Given the description of an element on the screen output the (x, y) to click on. 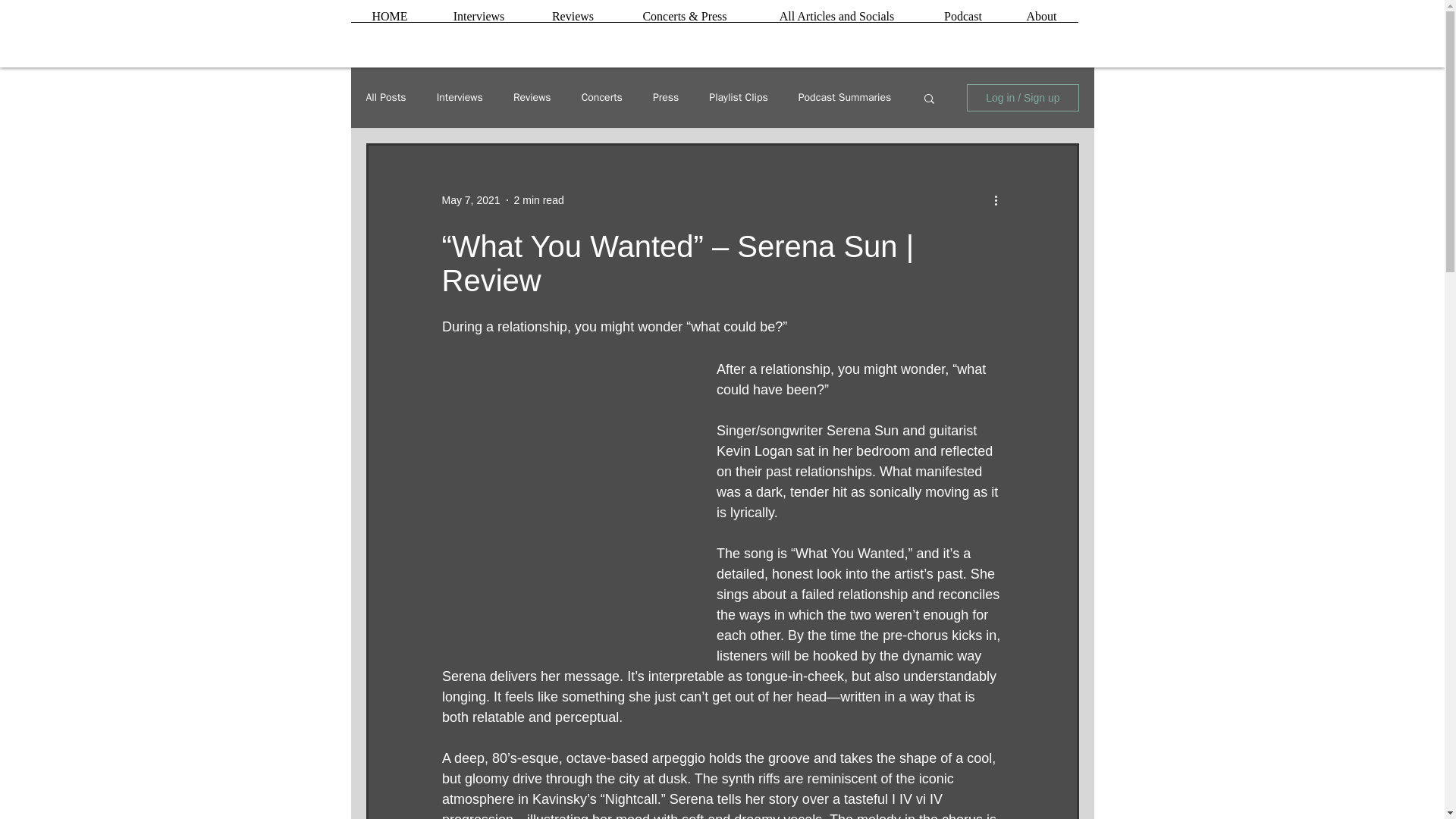
2 min read (538, 200)
Podcast (962, 20)
All Articles and Socials (836, 20)
Podcast Summaries (844, 97)
May 7, 2021 (470, 200)
HOME (389, 20)
Interviews (459, 97)
Concerts (601, 97)
Reviews (532, 97)
Interviews (479, 20)
